Given the description of an element on the screen output the (x, y) to click on. 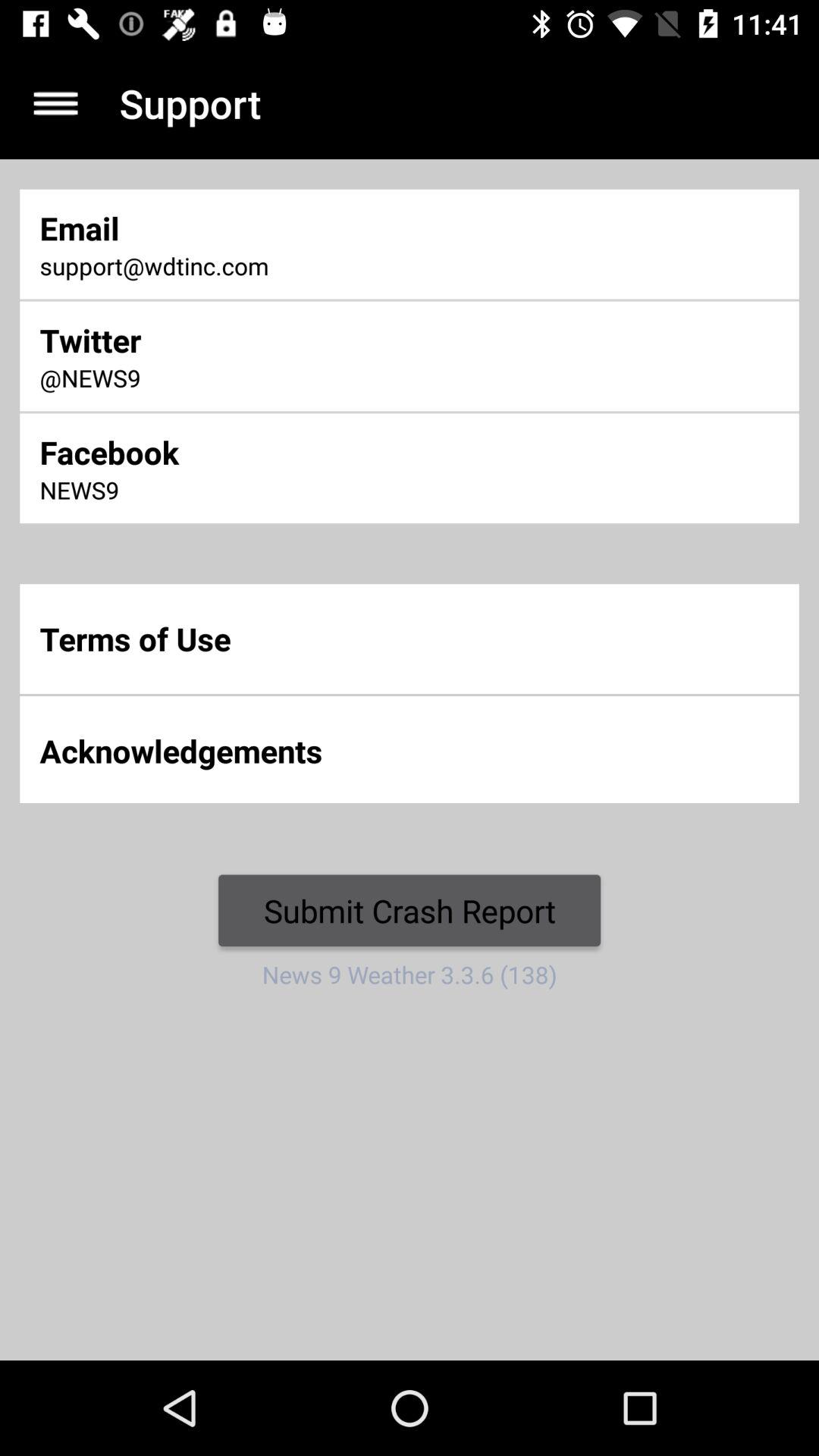
click icon above news9 (272, 451)
